Given the description of an element on the screen output the (x, y) to click on. 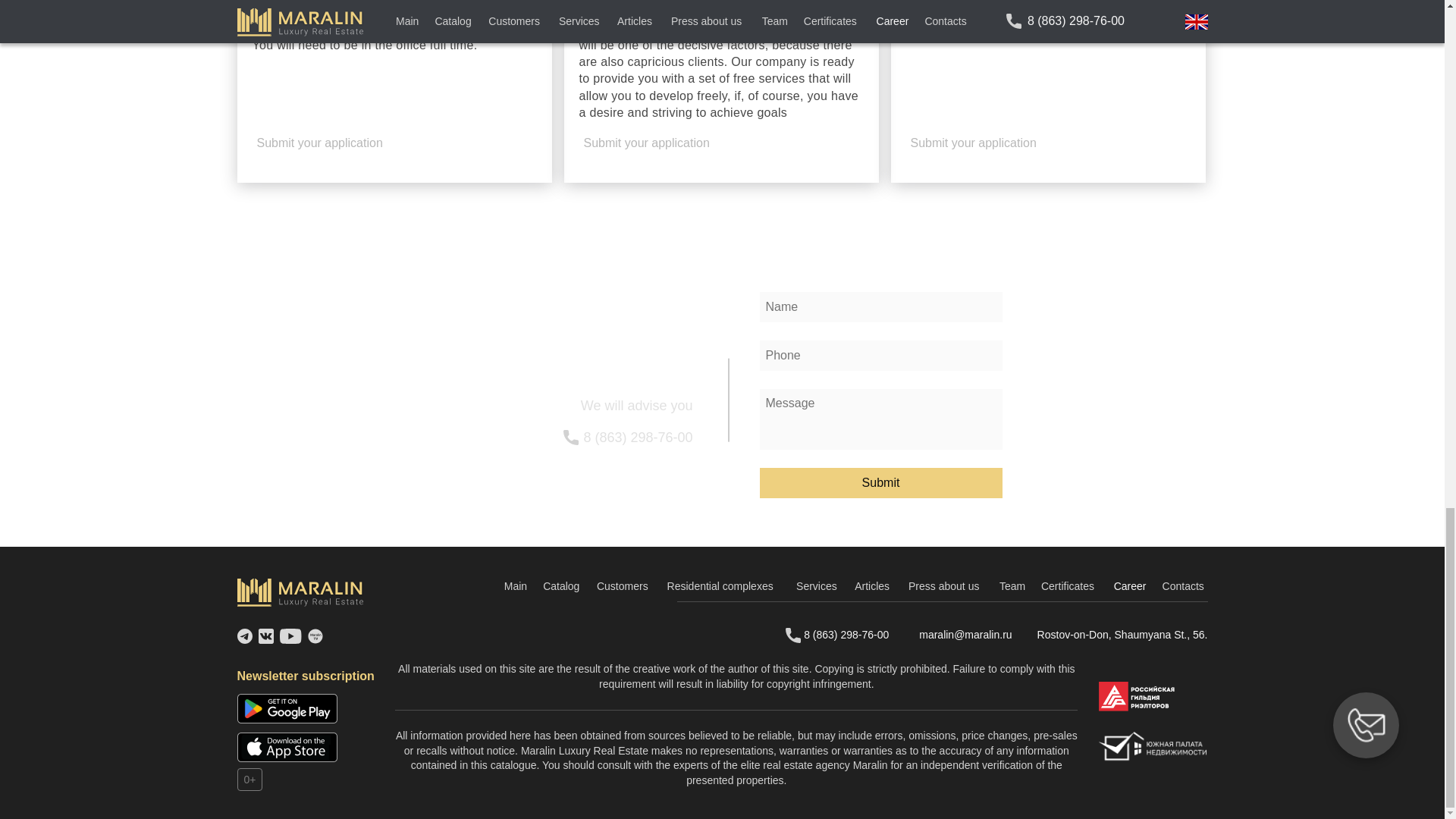
Catalog (561, 586)
Main (515, 586)
Certificates (1070, 586)
vk (265, 635)
Main (515, 586)
Career (1130, 586)
Team (1012, 586)
Customers (624, 586)
telegram (243, 635)
Submit (881, 482)
Newsletter subscription (304, 675)
Customers (624, 586)
Submit your application (339, 143)
Articles (873, 586)
Submit your application (993, 143)
